Given the description of an element on the screen output the (x, y) to click on. 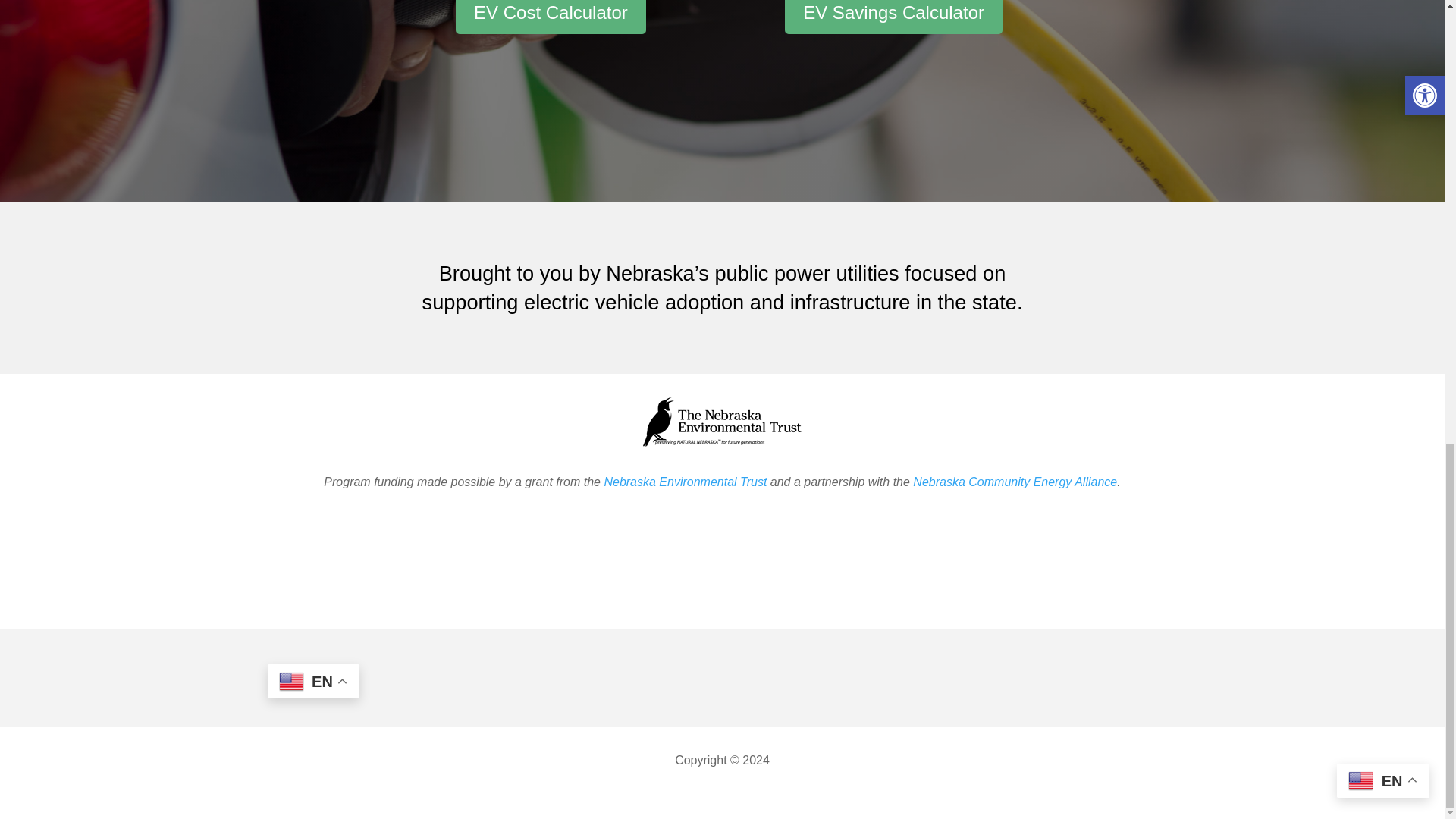
Nebraska Community Energy Alliance (1014, 481)
EV Savings Calculator (893, 17)
Nebraska Environmental Trust (685, 481)
Nebraska-Environmental-Trust-Logo (722, 421)
EV Cost Calculator (550, 17)
